Given the description of an element on the screen output the (x, y) to click on. 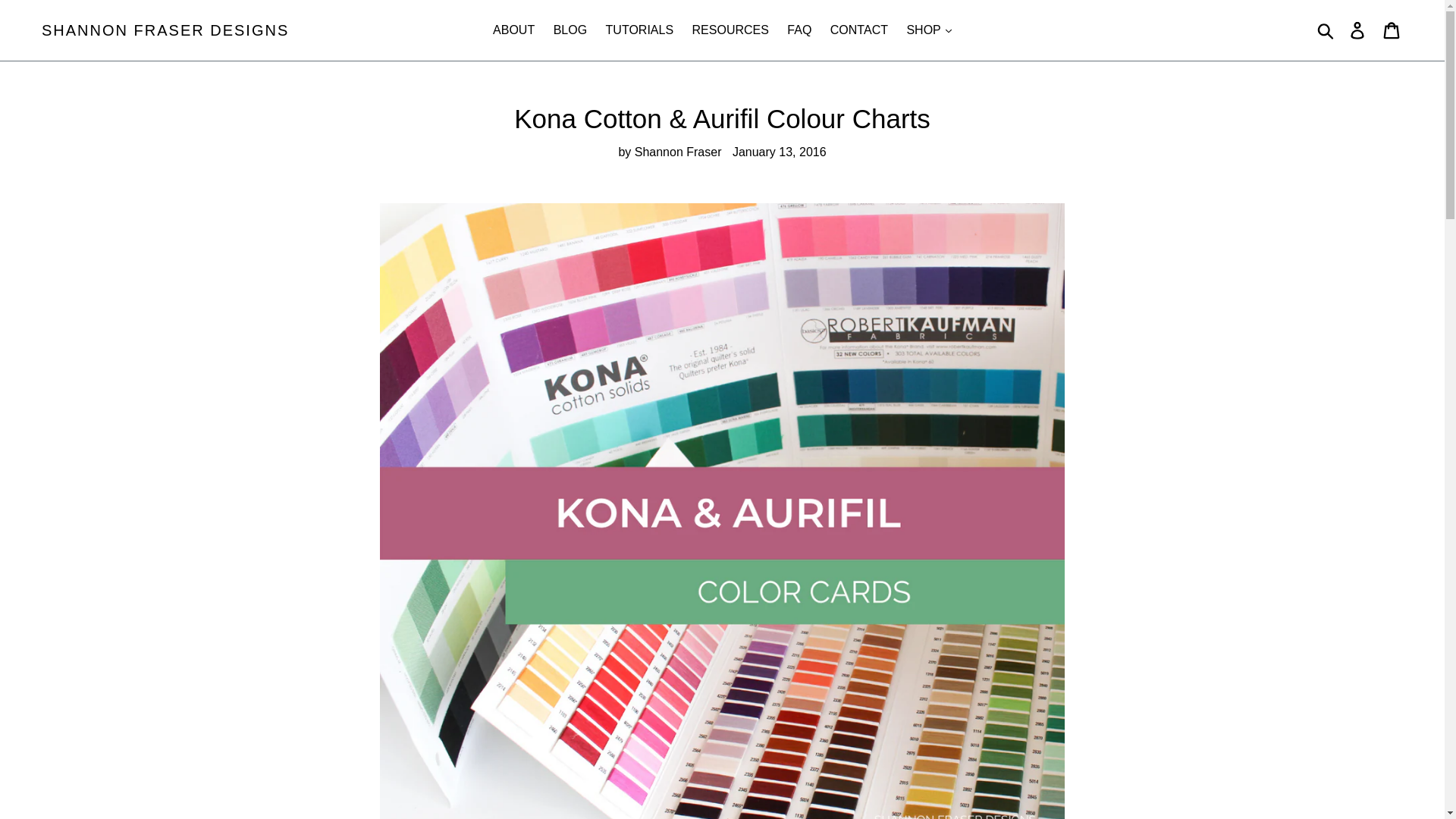
SHANNON FRASER DESIGNS (165, 30)
TUTORIALS (639, 29)
CONTACT (858, 29)
RESOURCES (730, 29)
ABOUT (512, 29)
BLOG (570, 29)
Cart (1392, 29)
Submit (1326, 29)
Log in (1357, 29)
FAQ (798, 29)
